Given the description of an element on the screen output the (x, y) to click on. 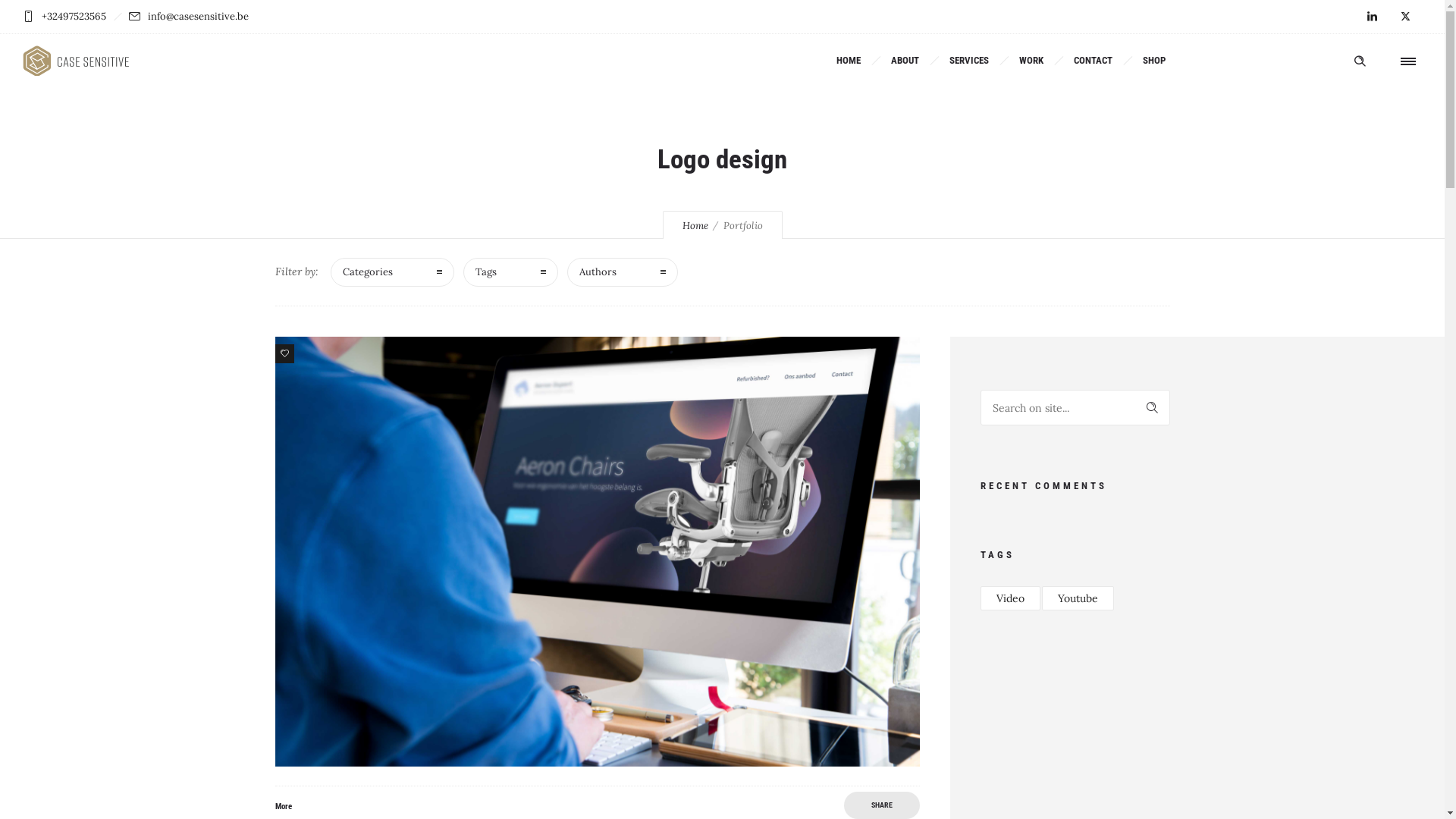
More Element type: text (282, 806)
ABOUT Element type: text (904, 60)
Home Element type: text (695, 225)
LinkedIN Element type: hover (1371, 16)
Search Element type: text (1152, 407)
SHOP Element type: text (1153, 60)
SERVICES Element type: text (969, 60)
Twitter Element type: hover (1404, 16)
Tags Element type: text (509, 271)
Categories Element type: text (392, 271)
HOME Element type: text (848, 60)
Video Element type: text (1009, 598)
Youtube Element type: text (1077, 598)
Authors Element type: text (622, 271)
WORK Element type: text (1031, 60)
CONTACT Element type: text (1092, 60)
